Given the description of an element on the screen output the (x, y) to click on. 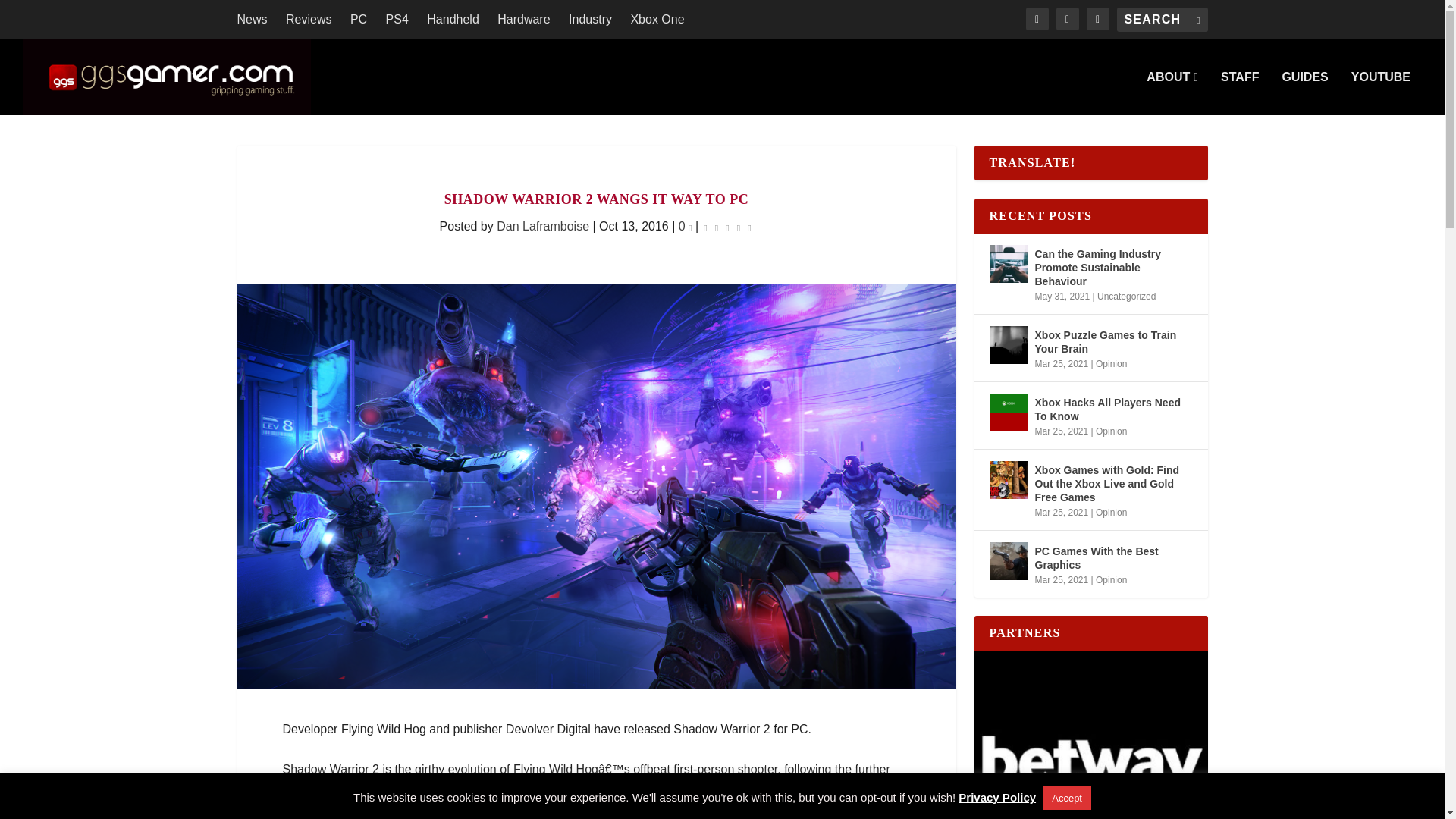
Reviews (308, 19)
Rating: 0.00 (727, 227)
0 (685, 226)
Dan Laframboise (542, 226)
YOUTUBE (1380, 93)
GUIDES (1304, 93)
Posts by Dan Laframboise (542, 226)
ABOUT (1172, 93)
Search for: (1161, 19)
Industry (590, 19)
Xbox One (657, 19)
Hardware (523, 19)
Handheld (452, 19)
